Given the description of an element on the screen output the (x, y) to click on. 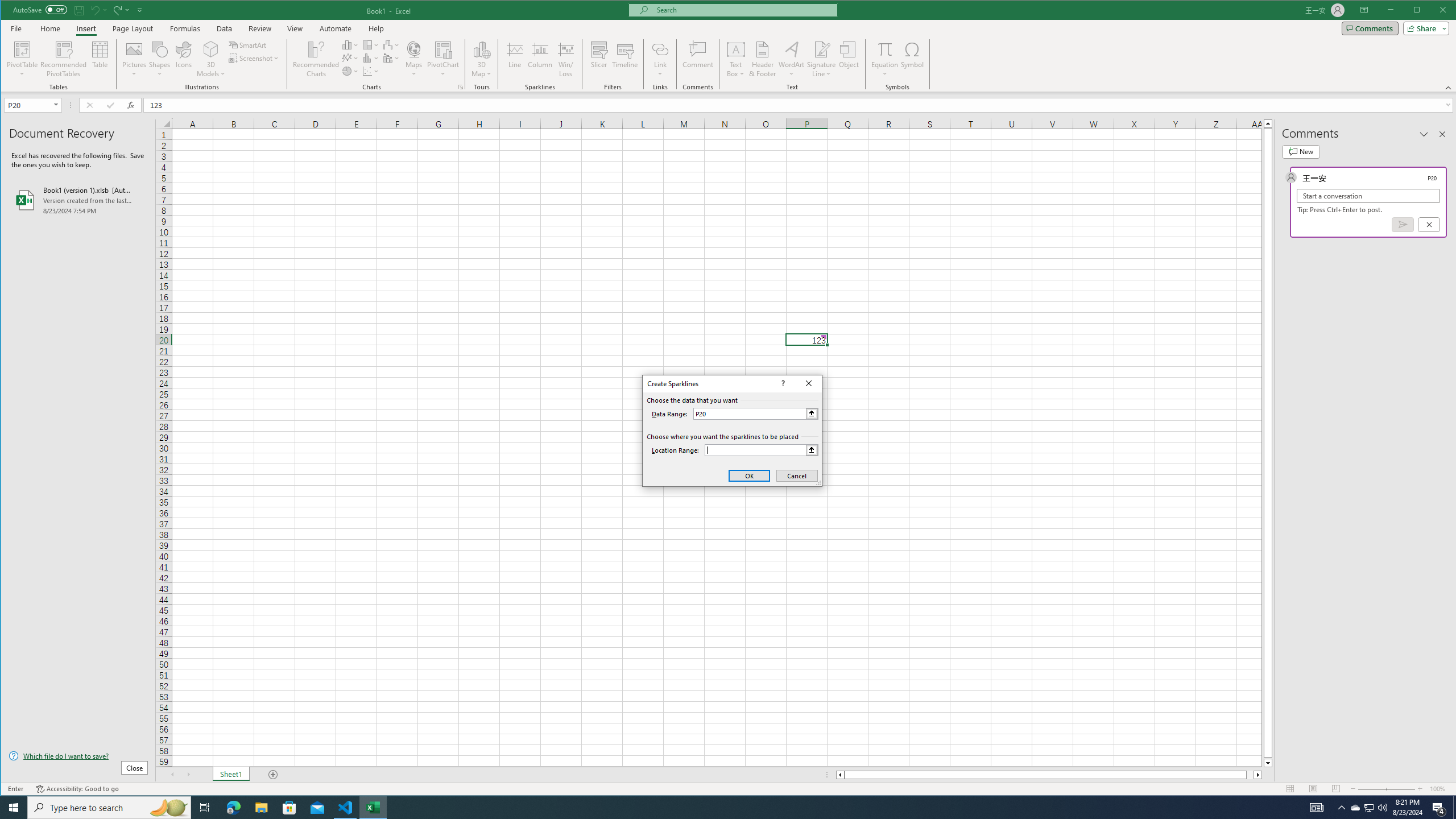
Equation (884, 59)
Table (100, 59)
Type here to search (108, 807)
Q2790: 100% (1382, 807)
Link (659, 48)
Cancel (797, 475)
